Given the description of an element on the screen output the (x, y) to click on. 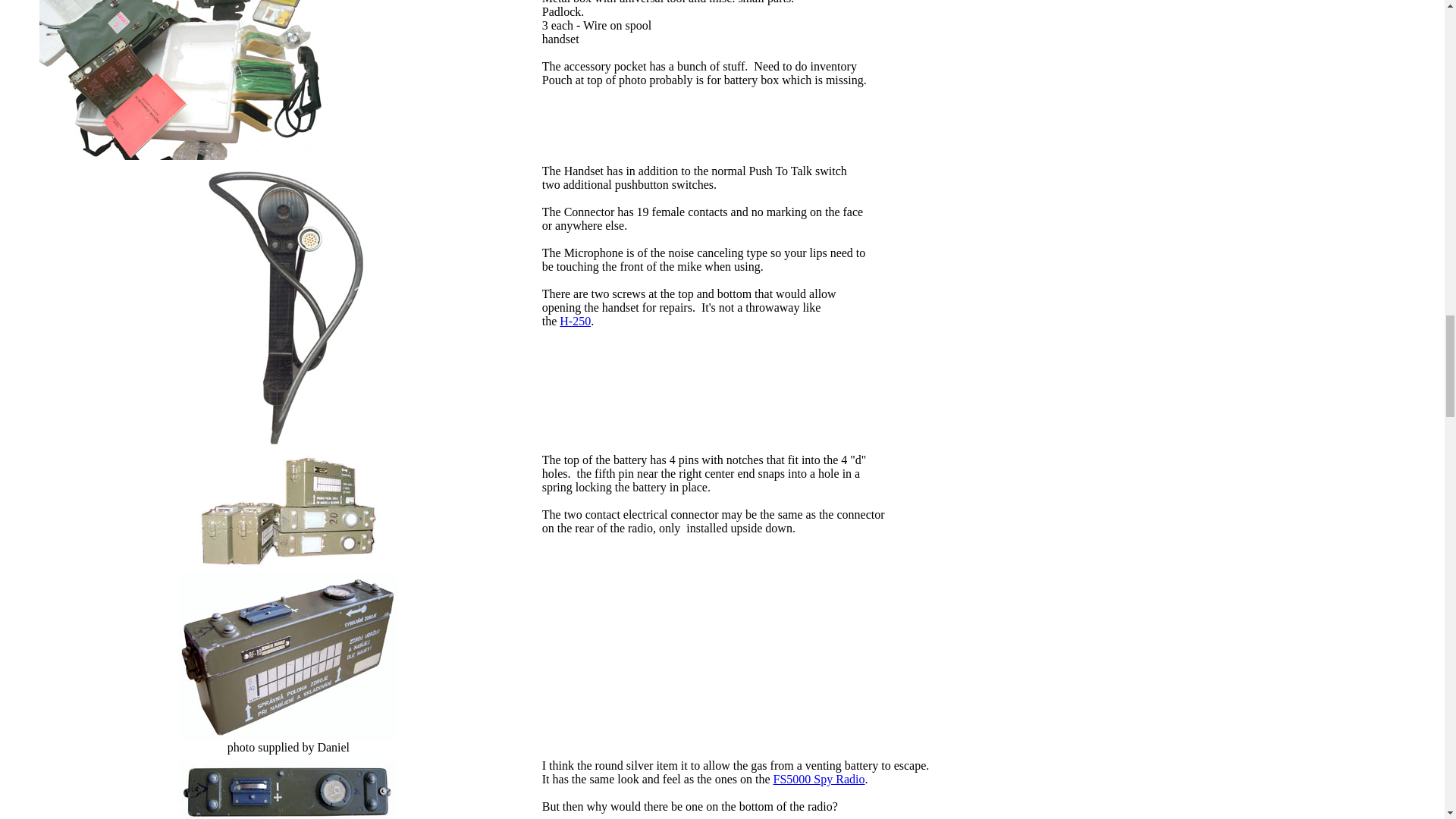
FS5000 Spy Radio (818, 779)
H-250 (575, 320)
